Given the description of an element on the screen output the (x, y) to click on. 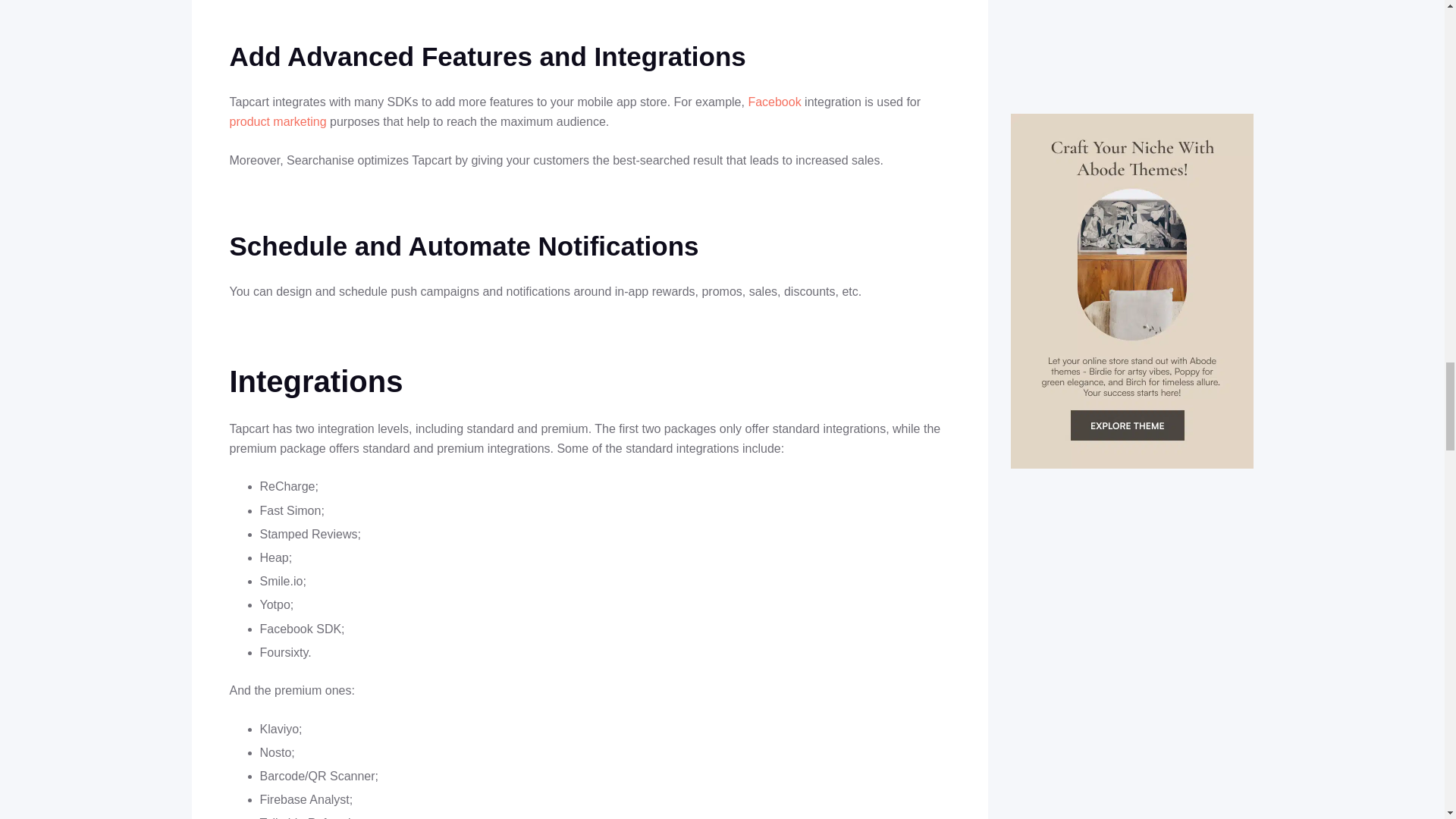
product marketing (277, 121)
Facebook (774, 101)
